Given the description of an element on the screen output the (x, y) to click on. 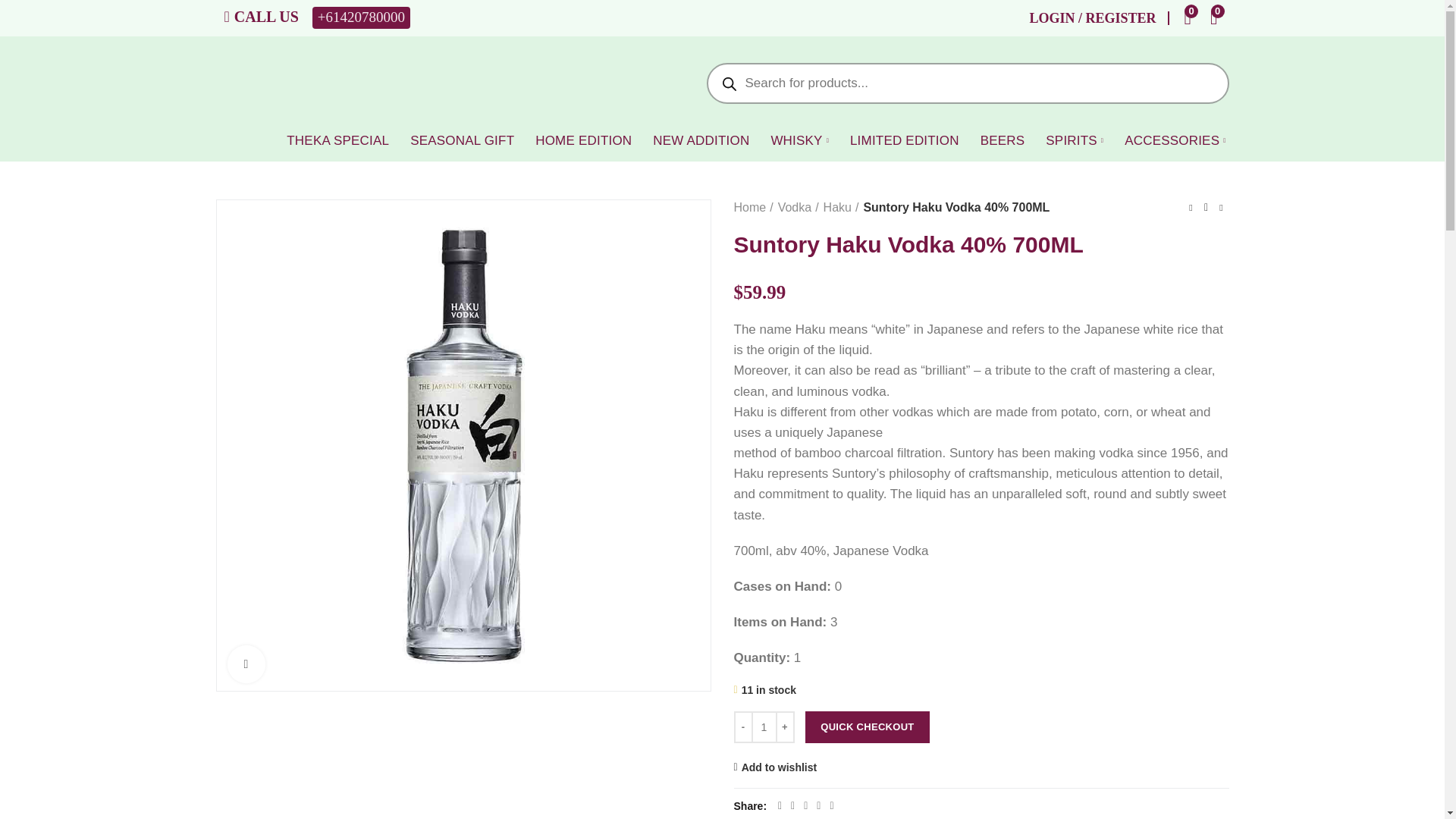
WHISKY (798, 142)
THEKA SPECIAL (337, 142)
SEASONAL GIFT (462, 142)
HOME EDITION (583, 142)
My account (1099, 17)
NEW ADDITION (701, 142)
